Given the description of an element on the screen output the (x, y) to click on. 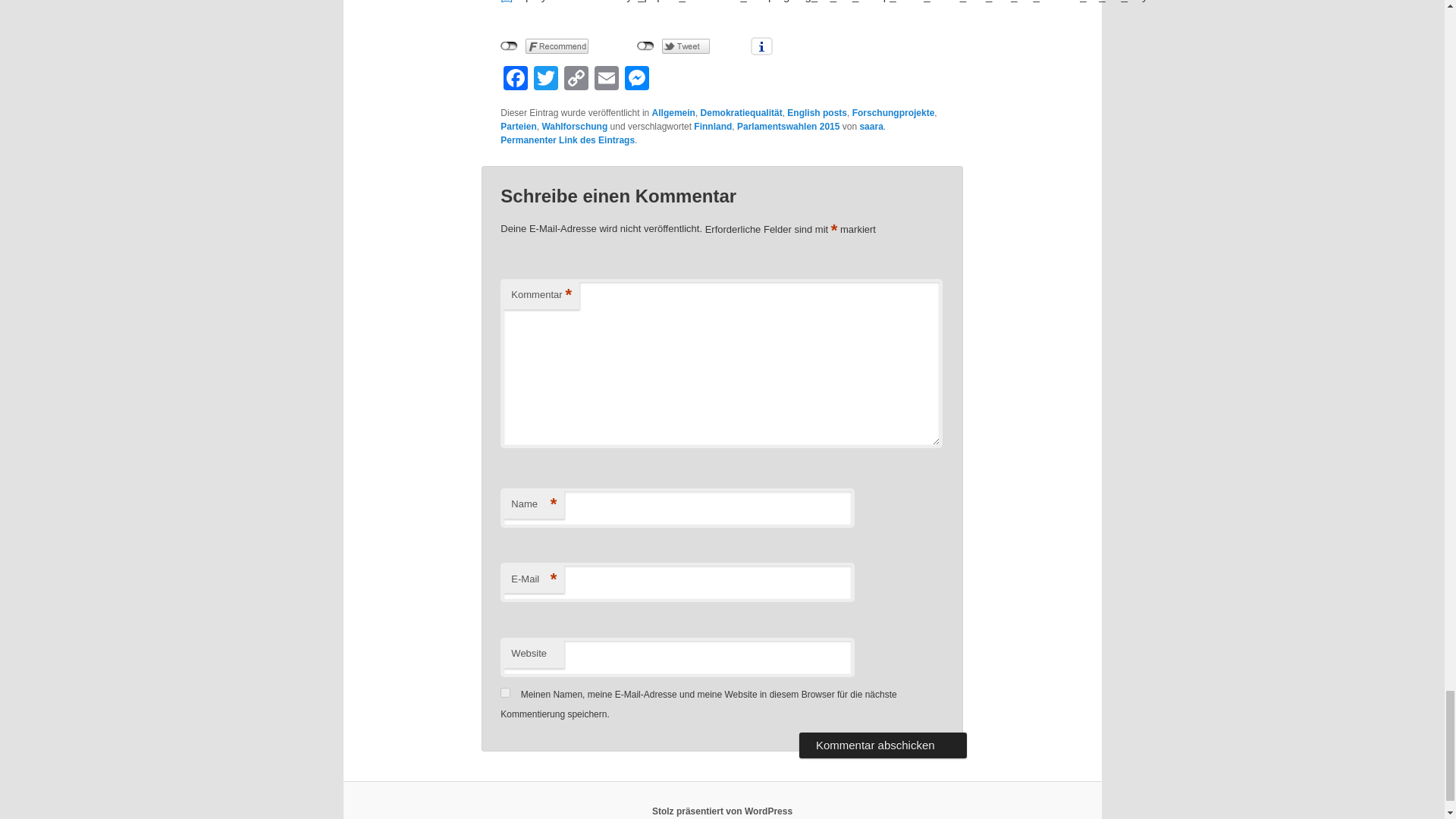
Kommentar abschicken (882, 745)
Twitter (545, 80)
Allgemein (673, 112)
Copy Link (575, 80)
Semantic Personal Publishing Platform (722, 810)
Copy Link (575, 80)
English posts (817, 112)
Wahlforschung (574, 126)
Facebook (515, 80)
yes (505, 692)
